Given the description of an element on the screen output the (x, y) to click on. 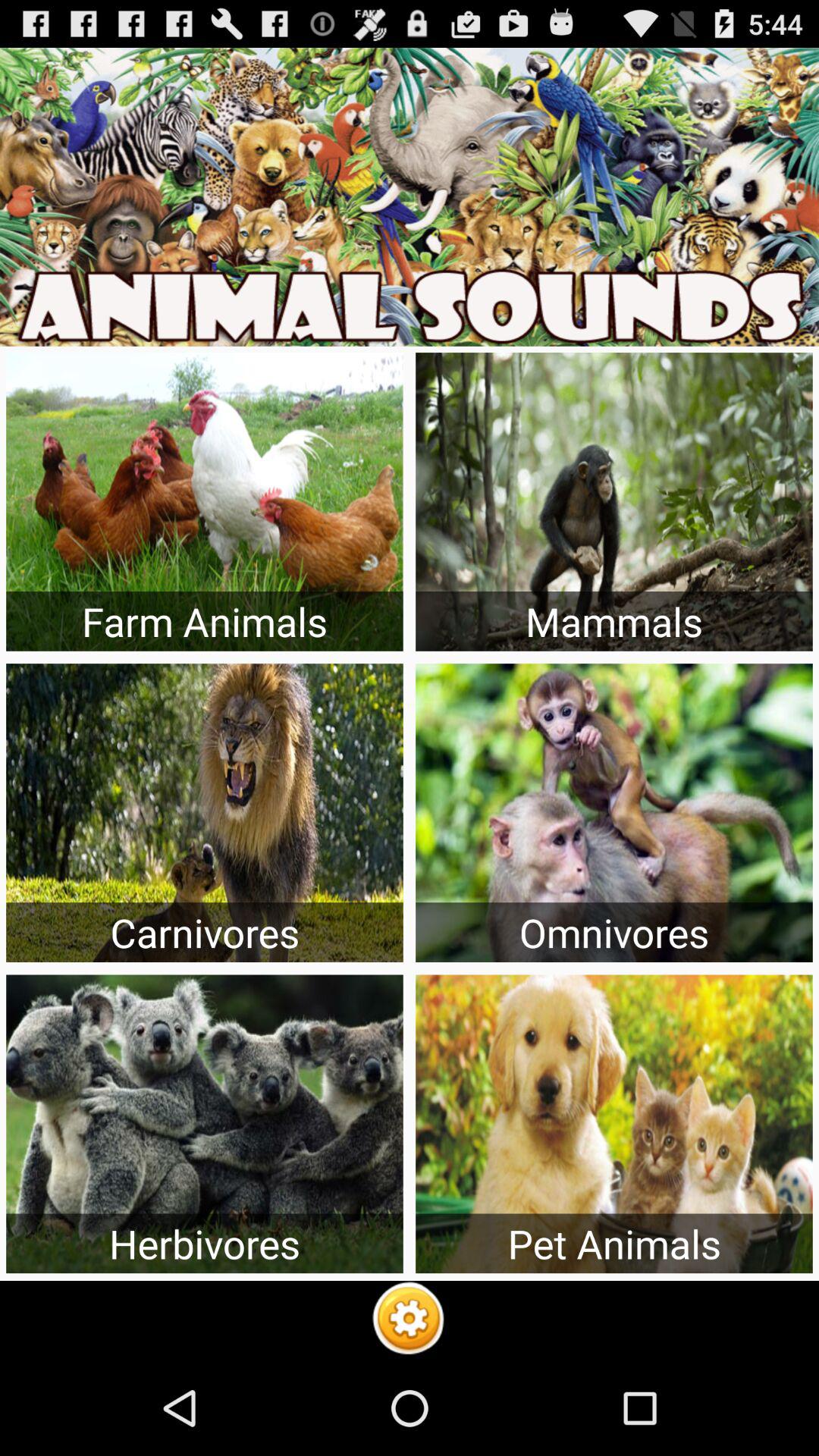
tap the icon at the bottom (408, 1320)
